Given the description of an element on the screen output the (x, y) to click on. 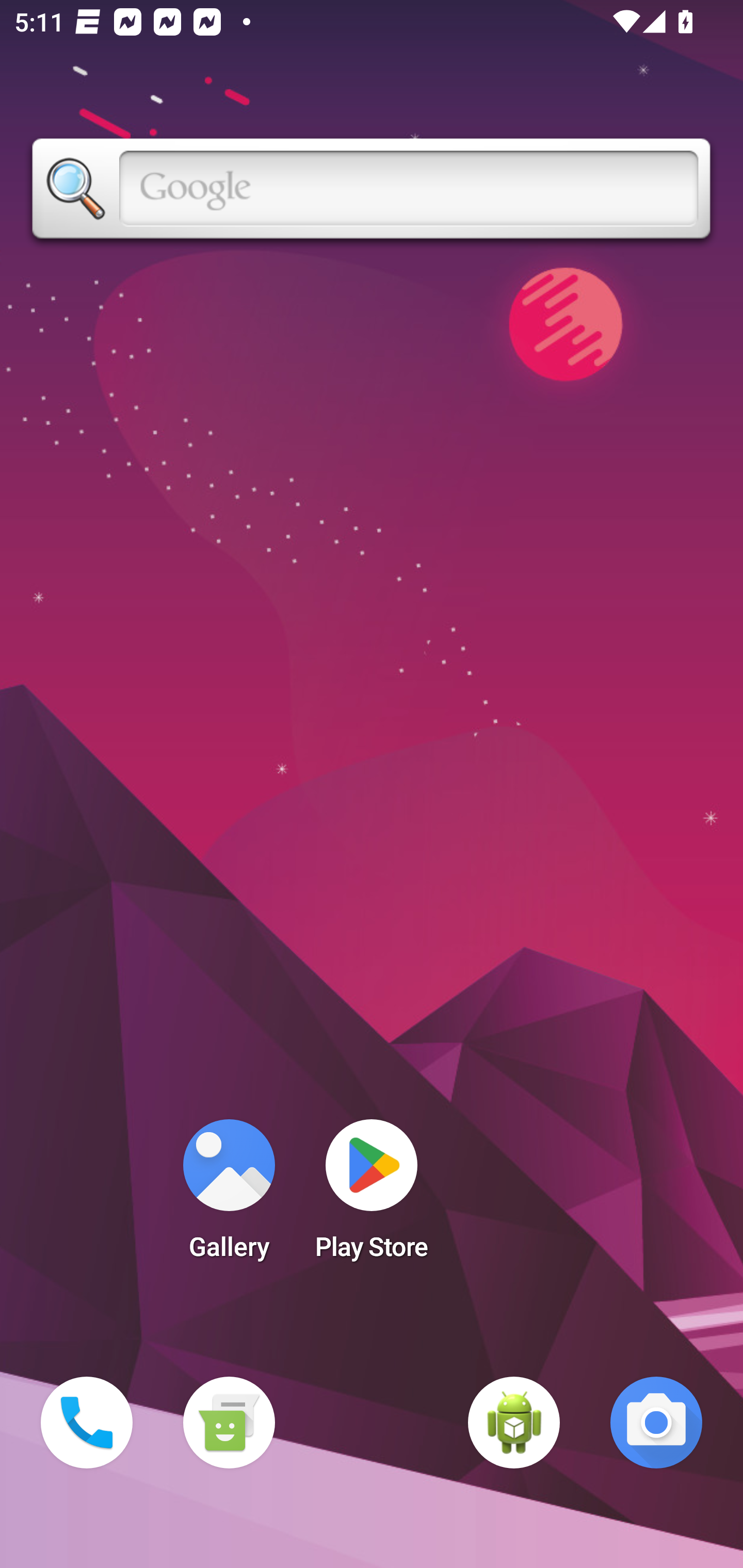
Gallery (228, 1195)
Play Store (371, 1195)
Phone (86, 1422)
Messaging (228, 1422)
WebView Browser Tester (513, 1422)
Camera (656, 1422)
